Given the description of an element on the screen output the (x, y) to click on. 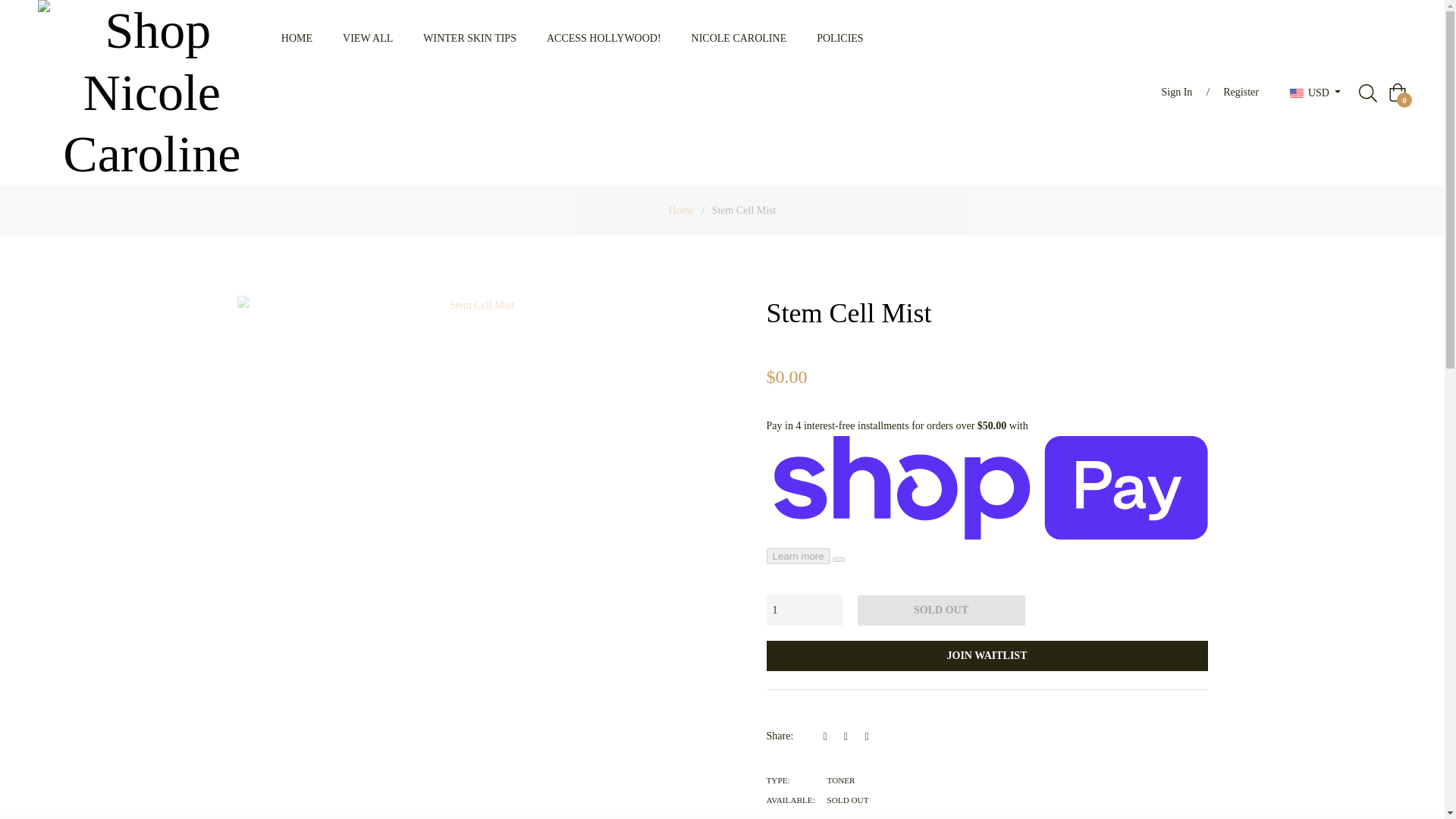
Share on Facebook (830, 736)
NICOLE CAROLINE (739, 38)
Tweet on Twitter (850, 736)
Sign In (1177, 92)
WINTER SKIN TIPS (469, 38)
Tweet on Twitter (850, 736)
Register (1240, 92)
Home (681, 210)
SOLD OUT (941, 610)
1 (803, 609)
